Given the description of an element on the screen output the (x, y) to click on. 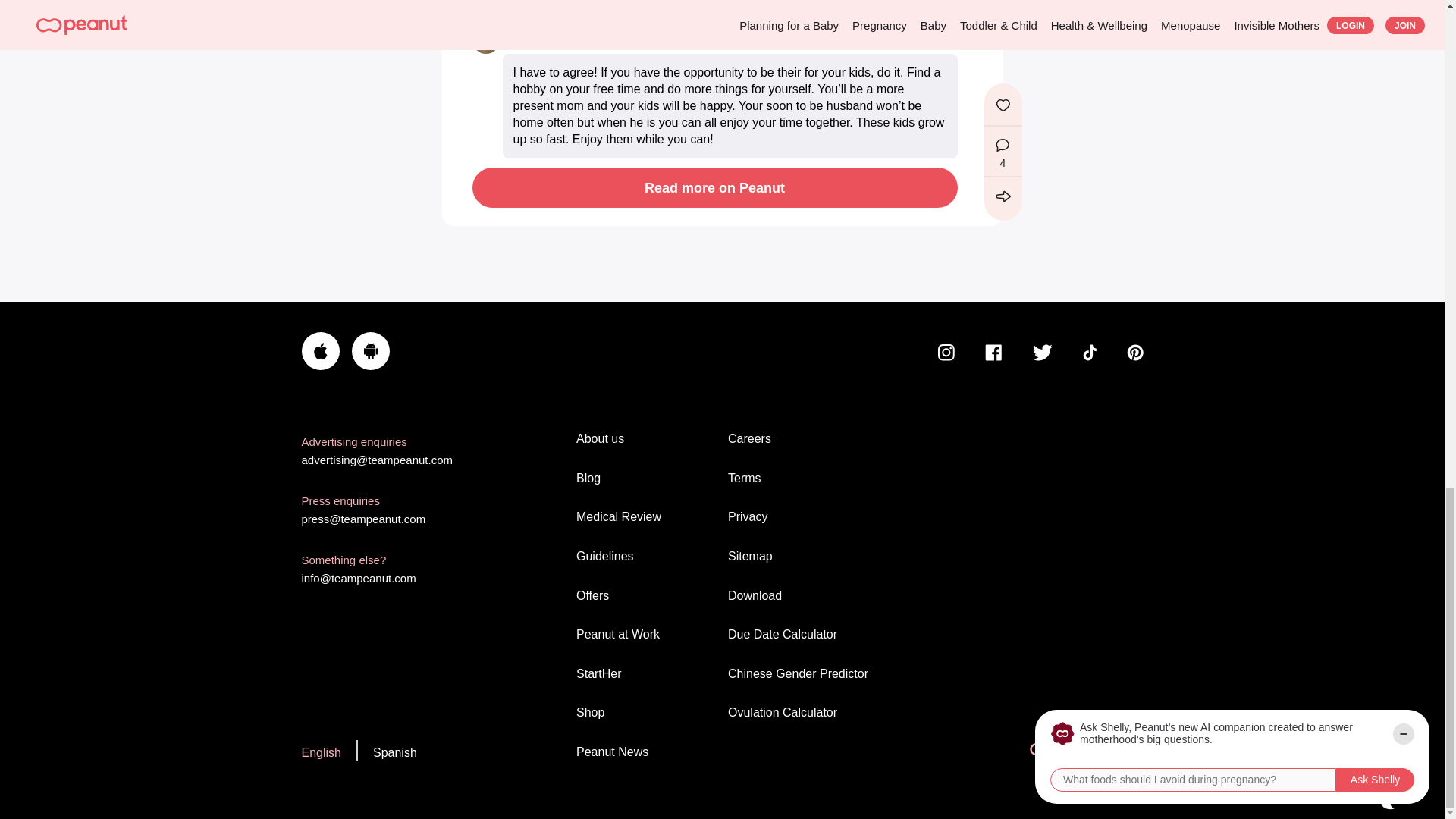
Read more on Peanut (713, 187)
Blog (646, 477)
About us (646, 438)
